Given the description of an element on the screen output the (x, y) to click on. 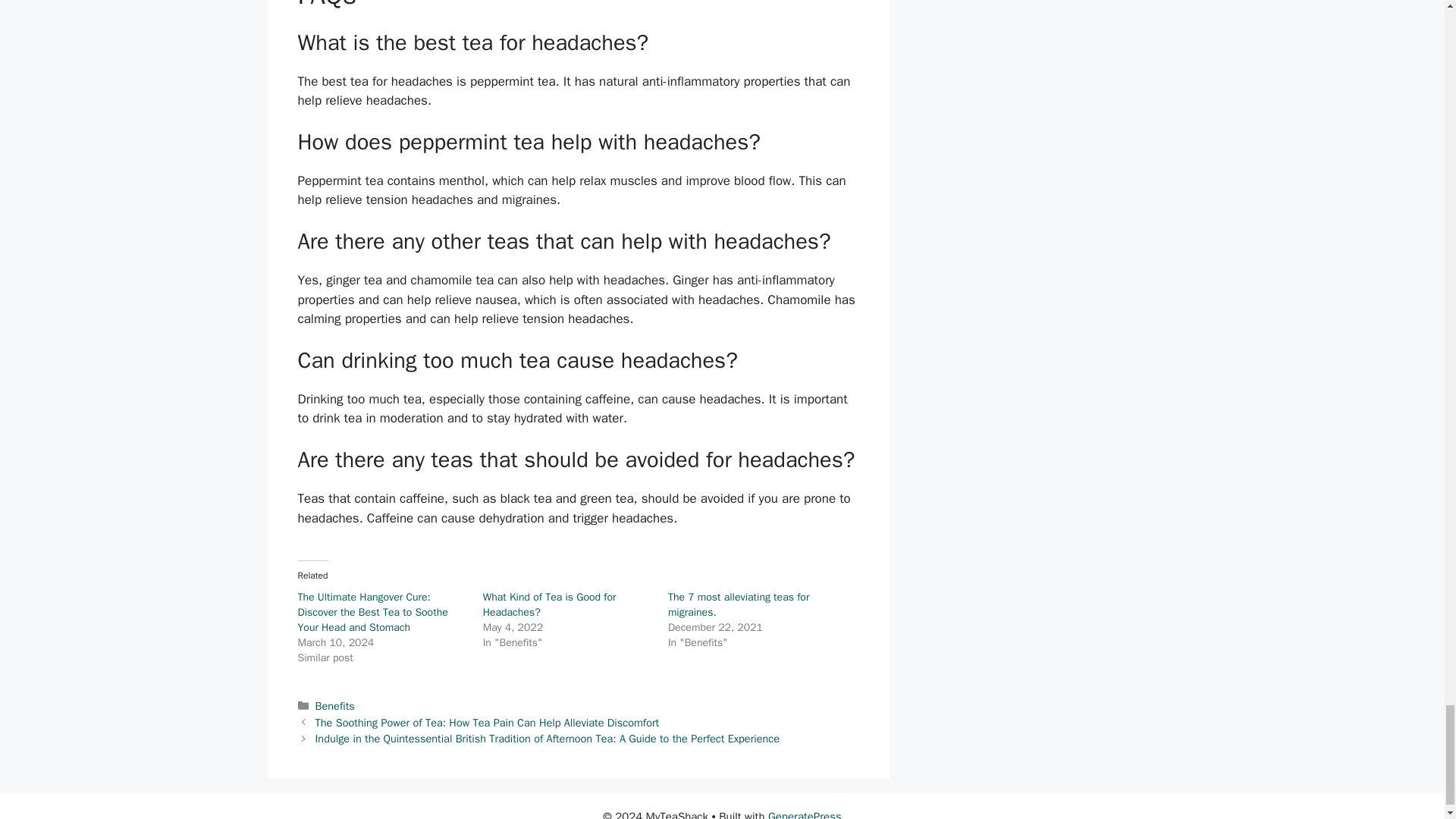
What Kind of Tea is Good for Headaches? (549, 604)
What Kind of Tea is Good for Headaches? (549, 604)
Benefits (335, 705)
The 7 most alleviating teas for migraines. (738, 604)
The 7 most alleviating teas for migraines. (738, 604)
